Given the description of an element on the screen output the (x, y) to click on. 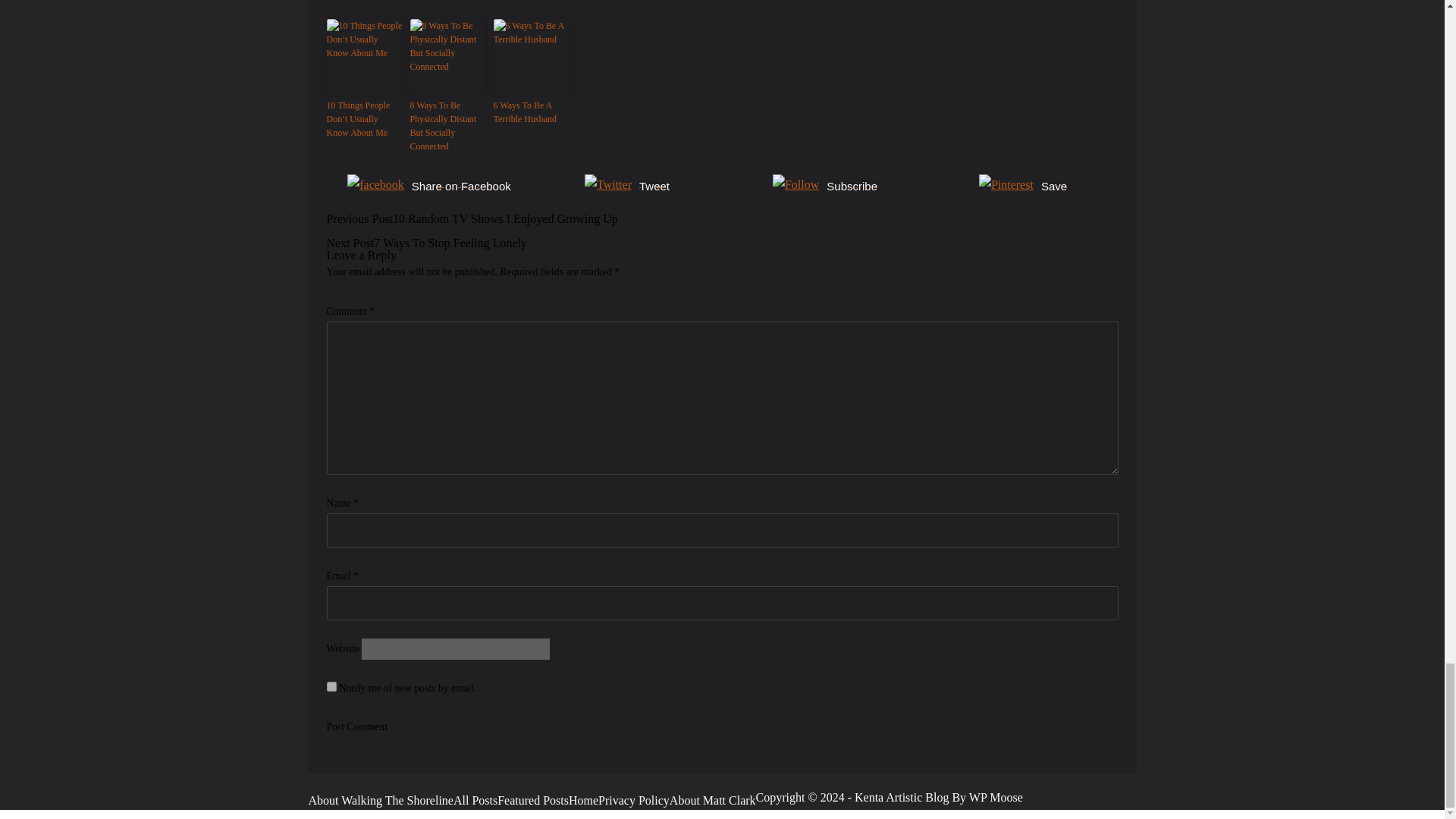
subscribe (331, 686)
Post Comment (356, 726)
